Given the description of an element on the screen output the (x, y) to click on. 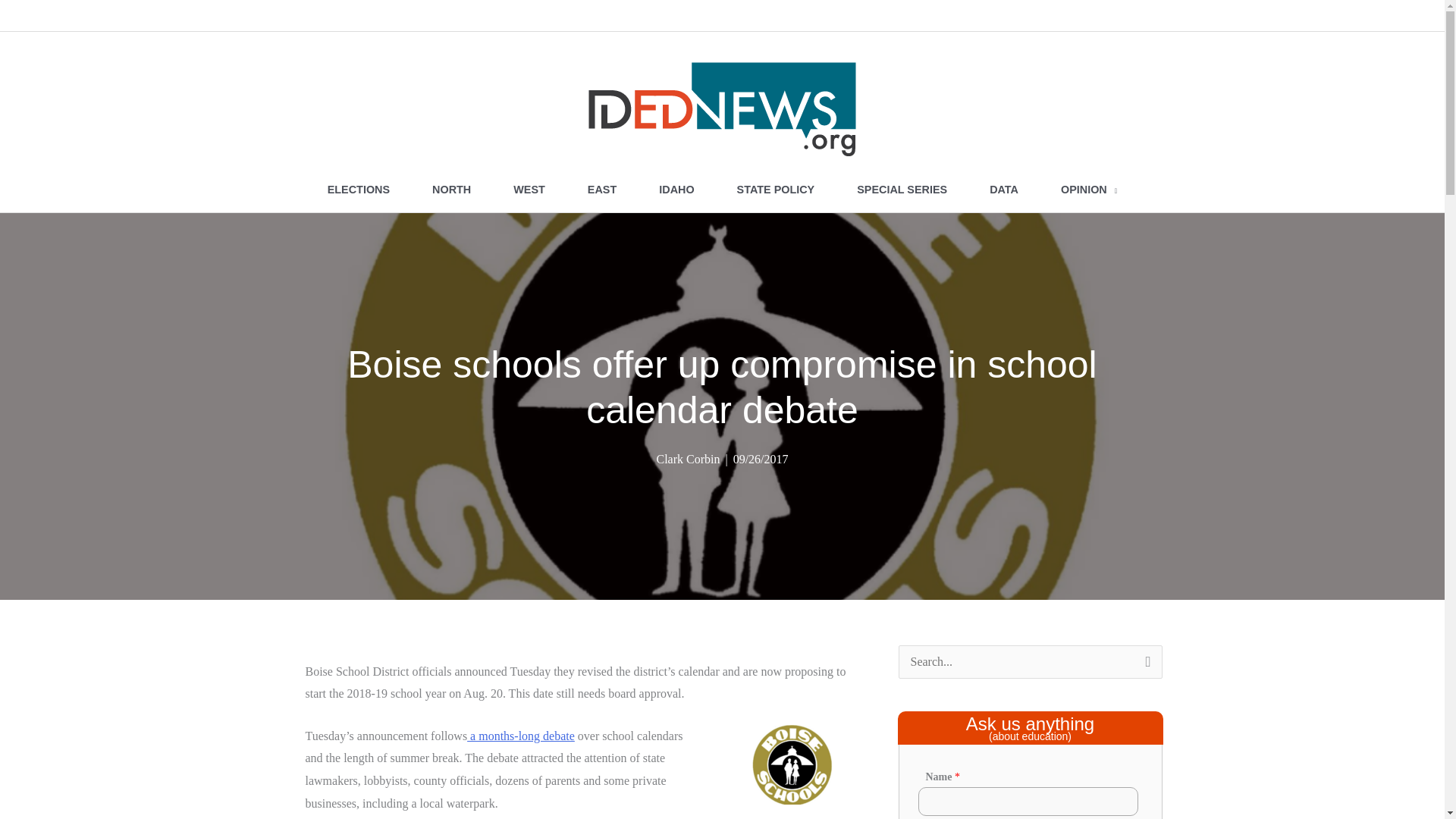
a months-long debate (521, 735)
ELECTIONS (357, 190)
OPINION (1088, 190)
EAST (601, 190)
STATE POLICY (775, 190)
NORTH (451, 190)
DATA (1003, 190)
Clark Corbin (687, 459)
SPECIAL SERIES (901, 190)
WEST (529, 190)
IDAHO (675, 190)
